Given the description of an element on the screen output the (x, y) to click on. 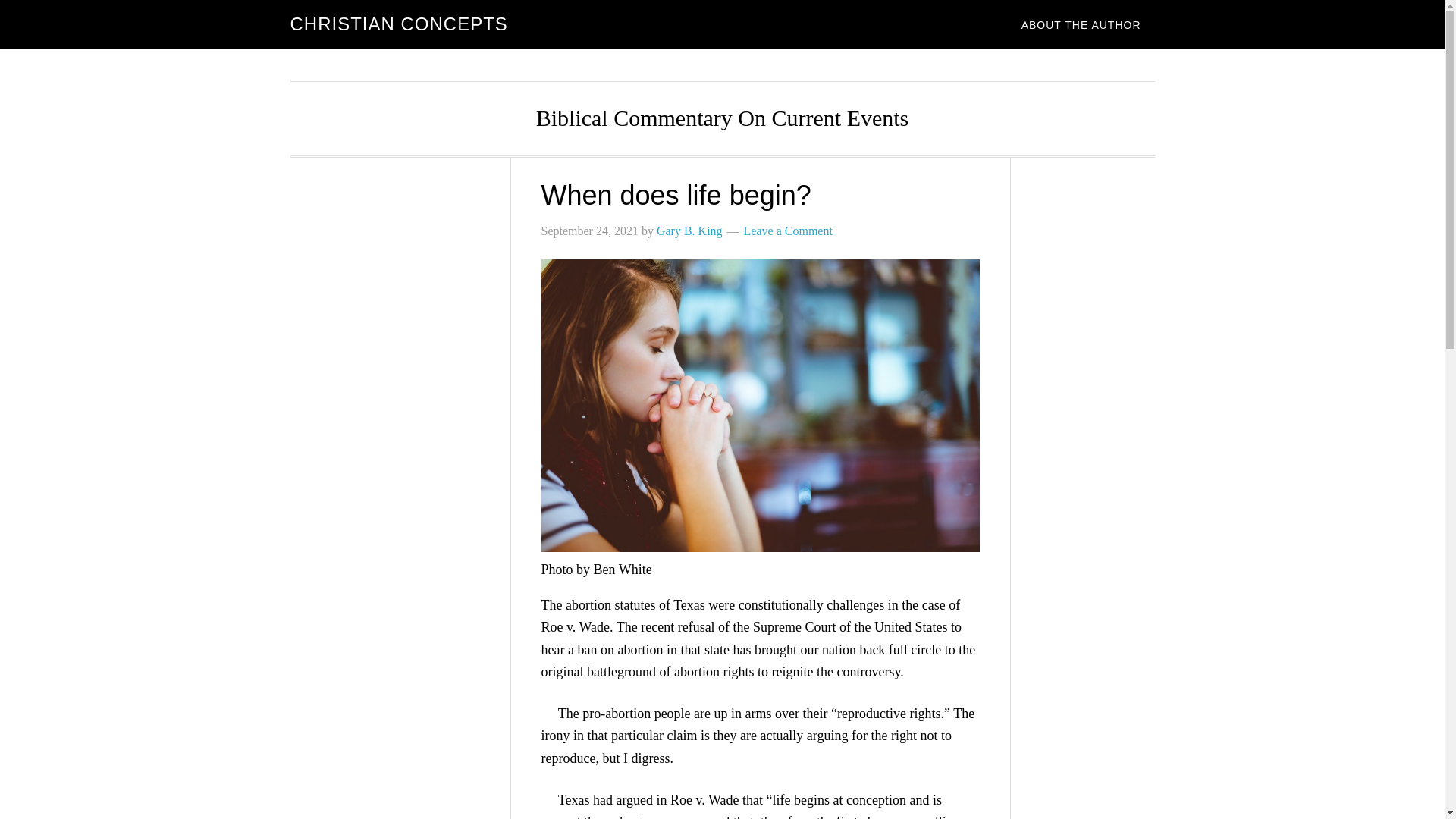
Gary B. King (689, 230)
Leave a Comment (788, 230)
ABOUT THE AUTHOR (1080, 24)
CHRISTIAN CONCEPTS (397, 23)
